Given the description of an element on the screen output the (x, y) to click on. 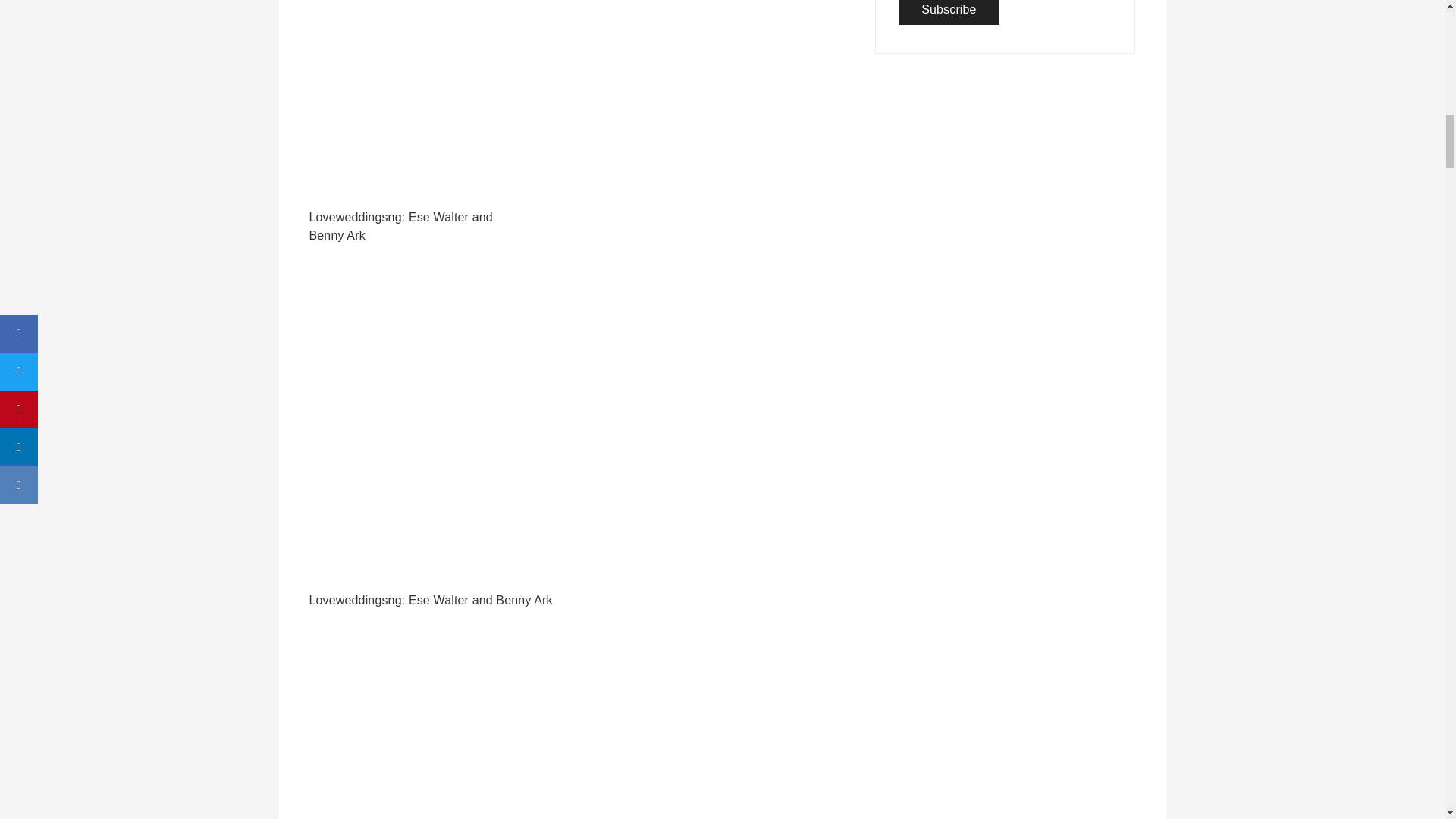
Subscribe (948, 12)
